Given the description of an element on the screen output the (x, y) to click on. 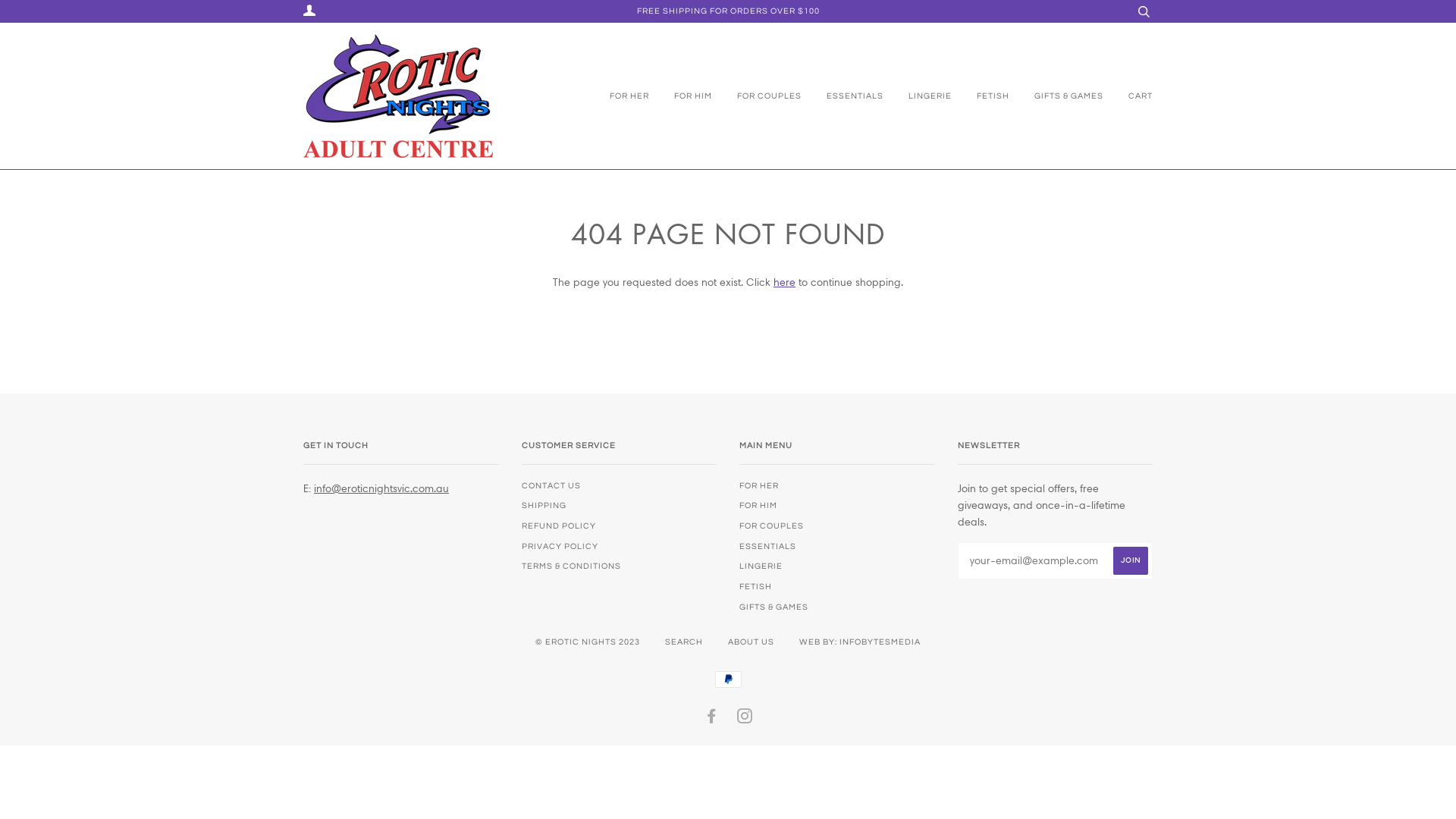
FETISH Element type: text (755, 586)
TERMS & CONDITIONS Element type: text (571, 565)
FOR COUPLES Element type: text (757, 96)
FOR HER Element type: text (758, 485)
PRIVACY POLICY Element type: text (559, 546)
ESSENTIALS Element type: text (843, 96)
FACEBOOK Element type: text (711, 719)
FOR COUPLES Element type: text (771, 525)
FETISH Element type: text (981, 96)
LINGERIE Element type: text (760, 565)
ABOUT US Element type: text (751, 641)
CONTACT US Element type: text (550, 485)
INSTAGRAM Element type: text (745, 719)
FOR HIM Element type: text (758, 505)
ESSENTIALS Element type: text (767, 546)
FOR HER Element type: text (625, 96)
CART Element type: text (1128, 96)
SEARCH Element type: text (683, 641)
REFUND POLICY Element type: text (558, 525)
here Element type: text (784, 281)
Join Element type: text (1130, 560)
FOR HIM Element type: text (681, 96)
GIFTS & GAMES Element type: text (1057, 96)
SHIPPING Element type: text (543, 505)
INFOBYTESMEDIA Element type: text (879, 641)
info@eroticnightsvic.com.au Element type: text (380, 488)
LINGERIE Element type: text (918, 96)
GIFTS & GAMES Element type: text (773, 606)
